Given the description of an element on the screen output the (x, y) to click on. 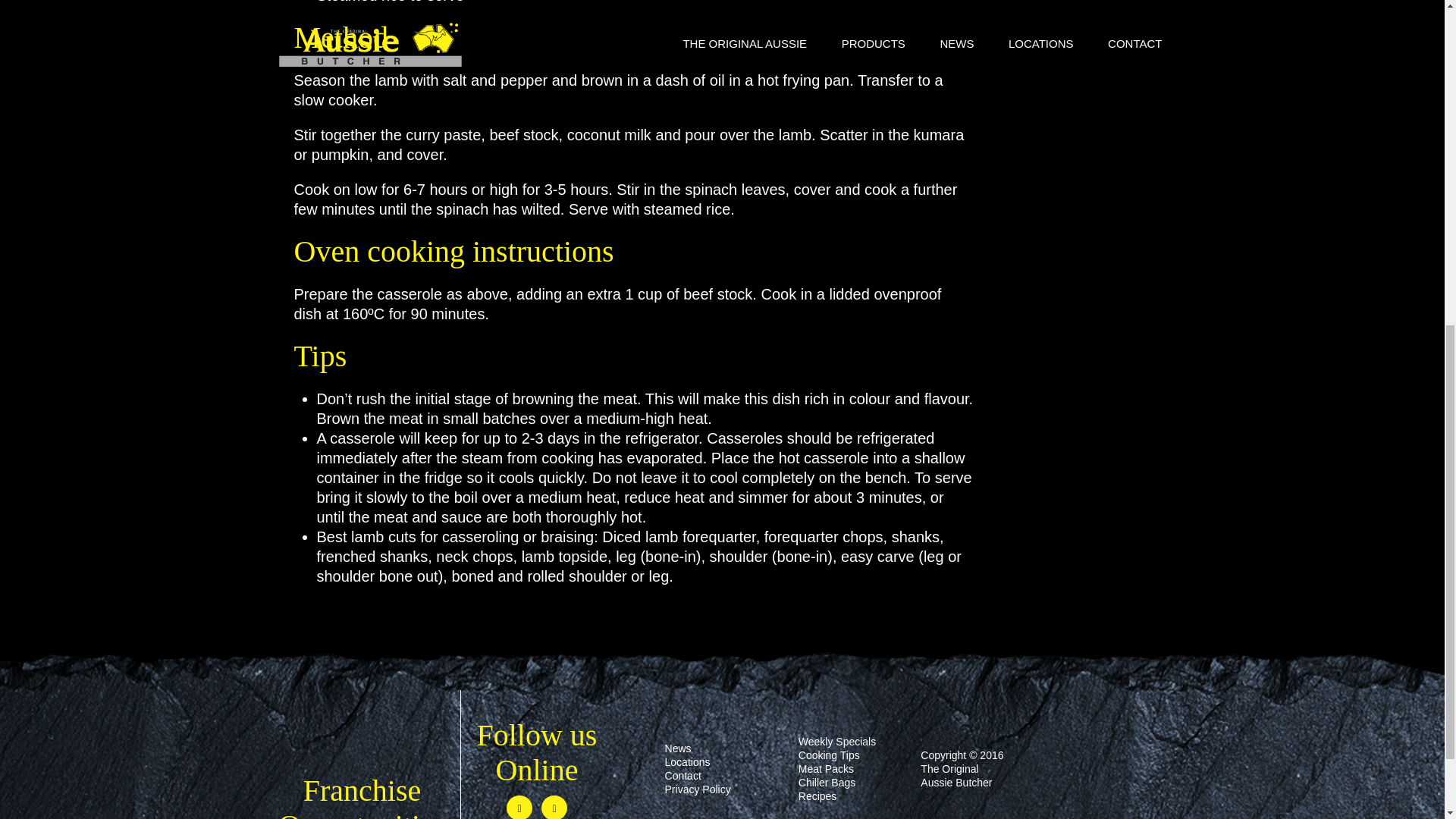
News (678, 748)
Recipes (817, 796)
Cooking Tips (828, 755)
Chiller Bags (826, 782)
Meat Packs (825, 768)
Privacy Policy (697, 788)
Locations (687, 761)
Weekly Specials (836, 741)
Contact (683, 775)
